Given the description of an element on the screen output the (x, y) to click on. 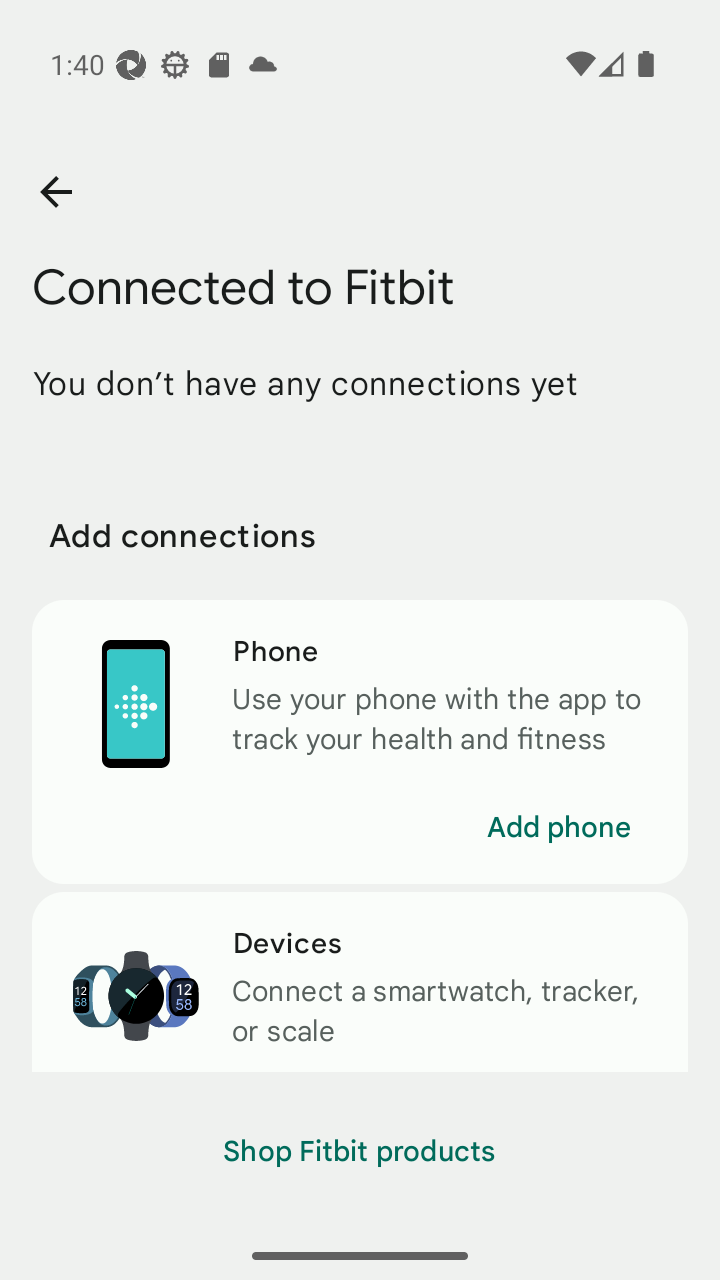
Go back (55, 191)
Add phone (558, 827)
Devices Connect a smartwatch, tracker, or scale (359, 982)
Shop Fitbit products (359, 1151)
